Given the description of an element on the screen output the (x, y) to click on. 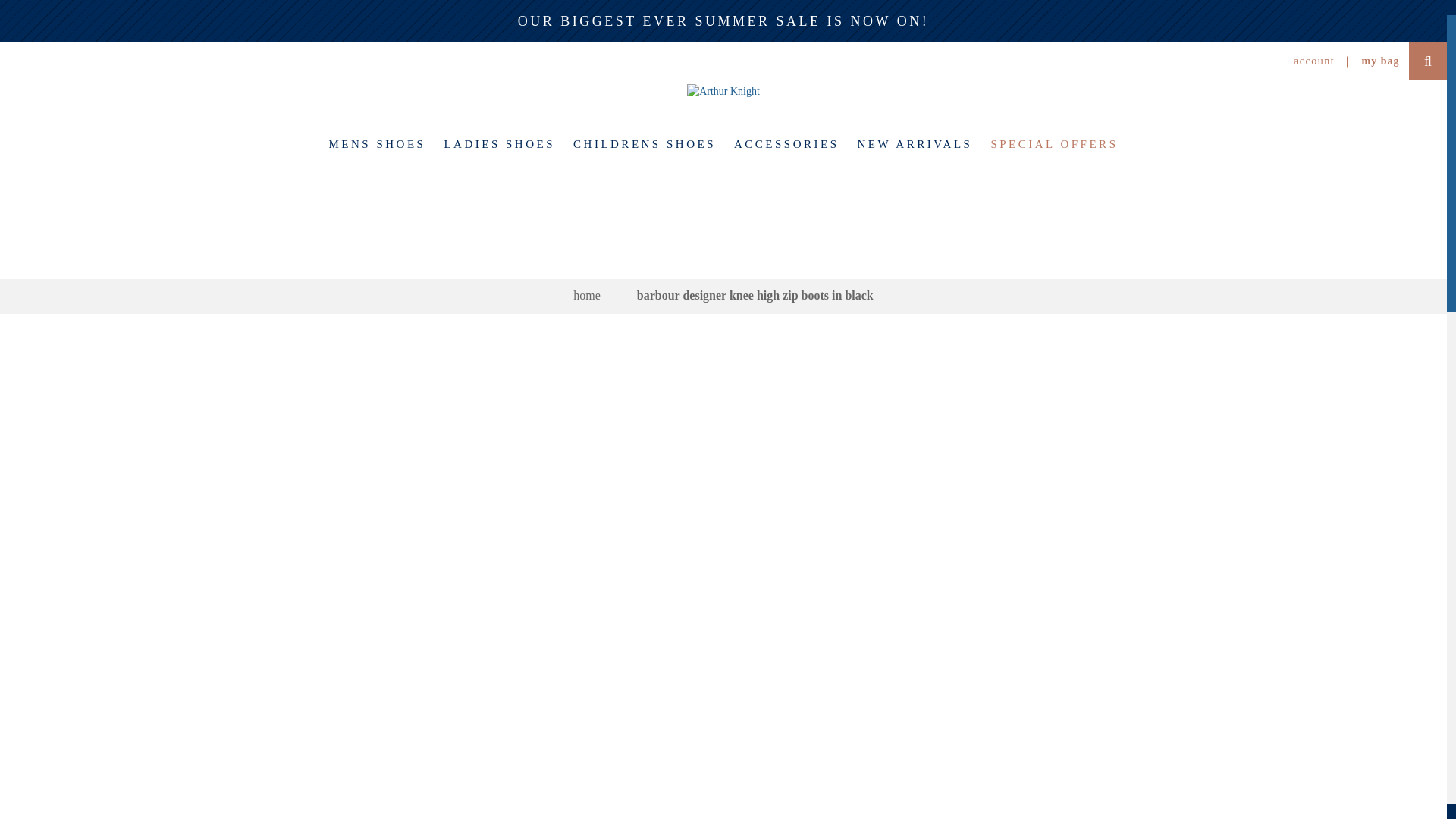
account (1314, 61)
MENS SHOES (377, 144)
my bag (1380, 61)
